Given the description of an element on the screen output the (x, y) to click on. 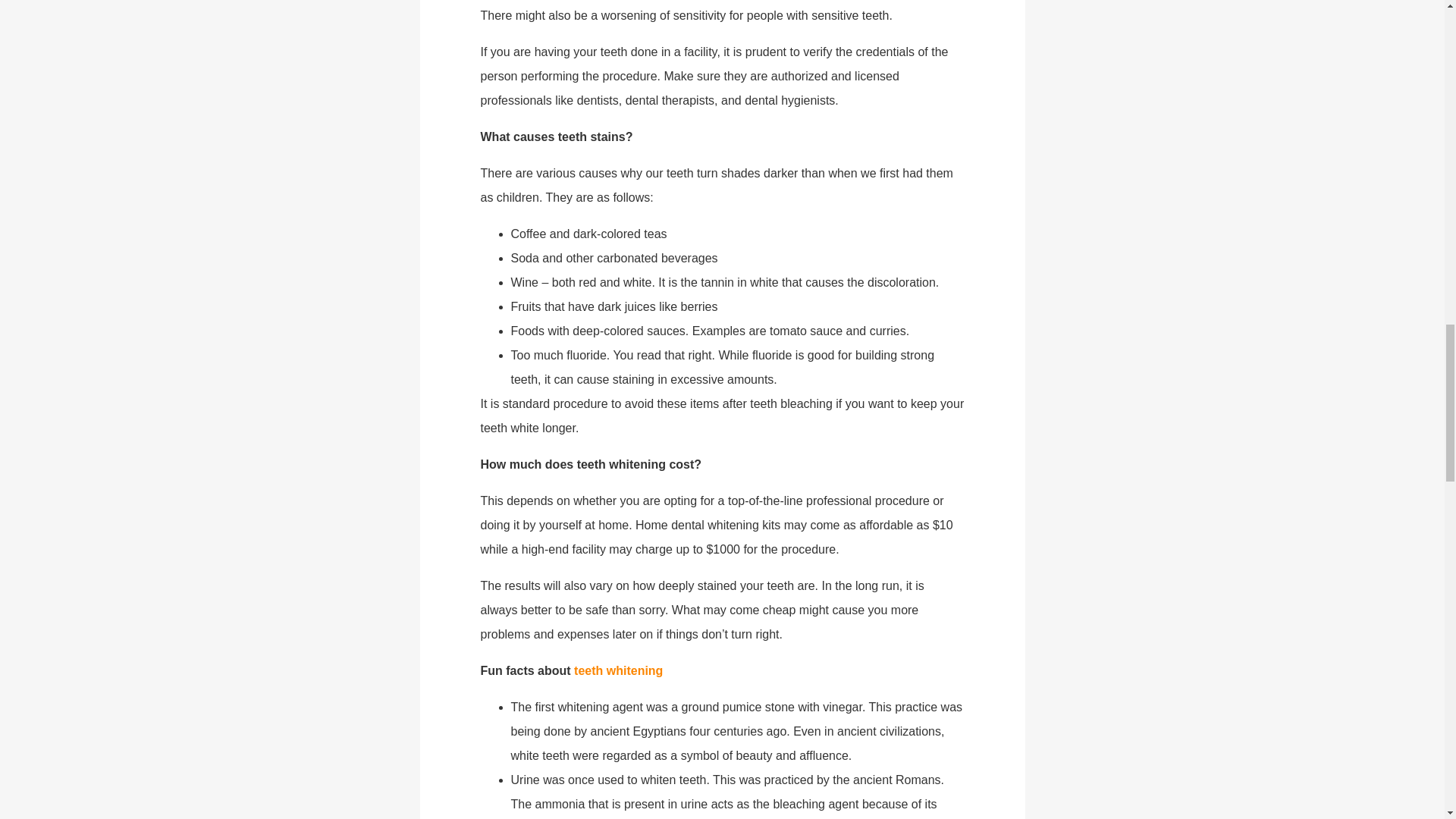
teeth whitening (617, 670)
